Given the description of an element on the screen output the (x, y) to click on. 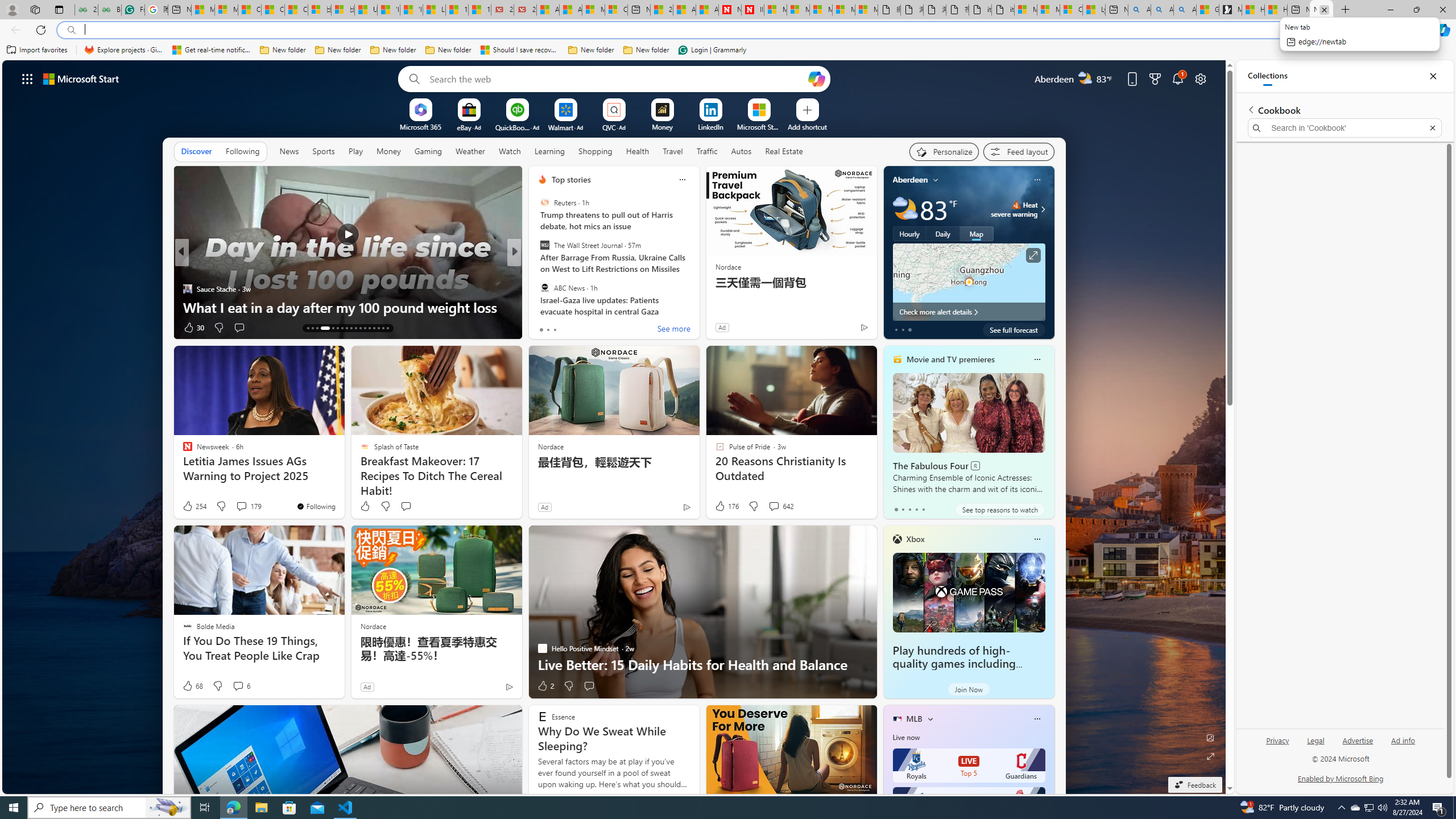
Feed settings (1018, 151)
This Is The Best Temperature For Cooking Bacon In The Oven (697, 298)
Traffic (706, 151)
Champagne Living (537, 270)
Lifestyle - MSN (433, 9)
Groovy Era (537, 270)
View comments 4 Comment (588, 327)
House Beautiful (537, 270)
Dislike (568, 685)
Partly cloudy (904, 208)
